Given the description of an element on the screen output the (x, y) to click on. 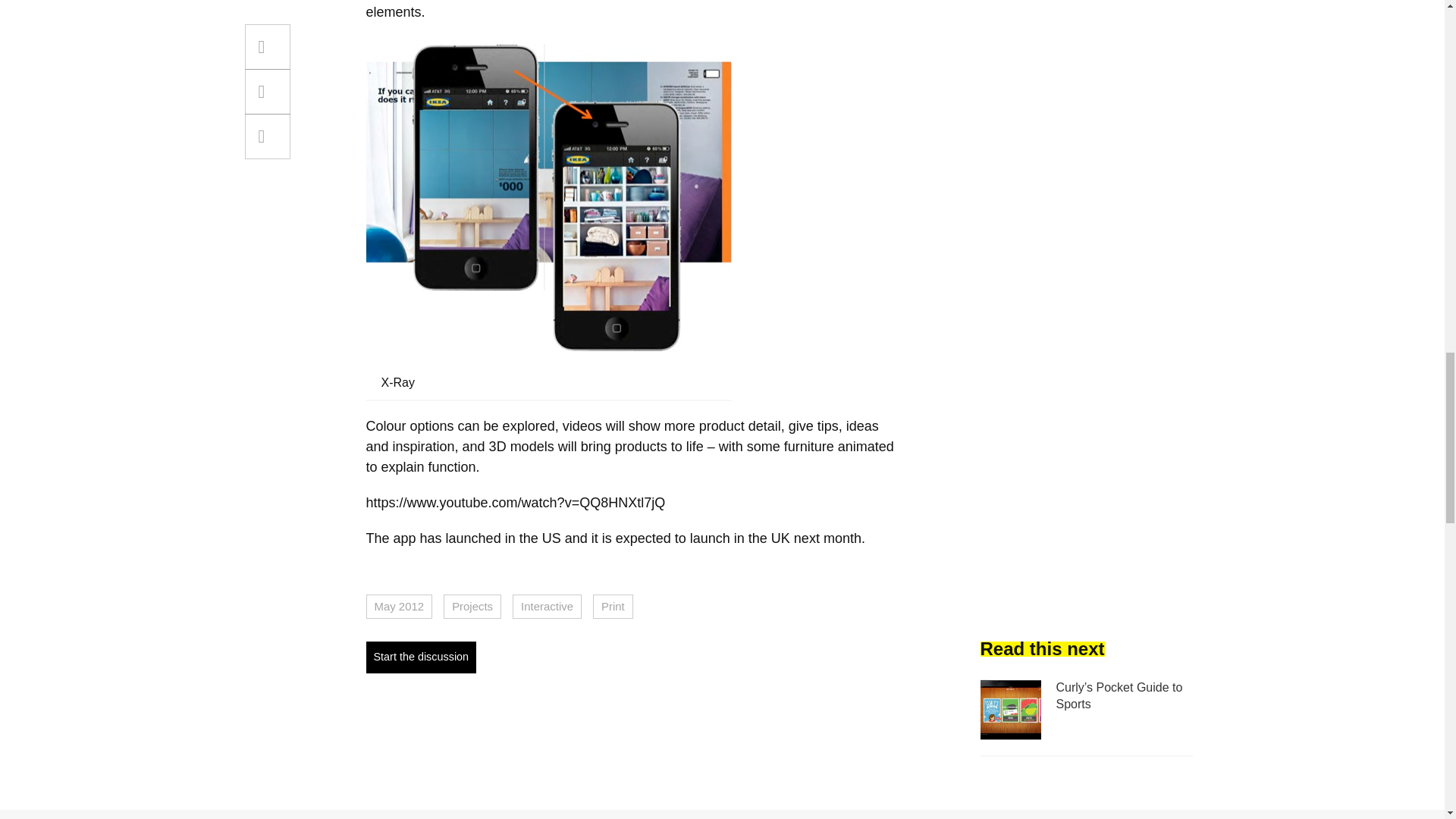
Interactive (546, 606)
May 2012 (398, 606)
Print (612, 606)
Projects (472, 606)
Start the discussion (420, 657)
